Given the description of an element on the screen output the (x, y) to click on. 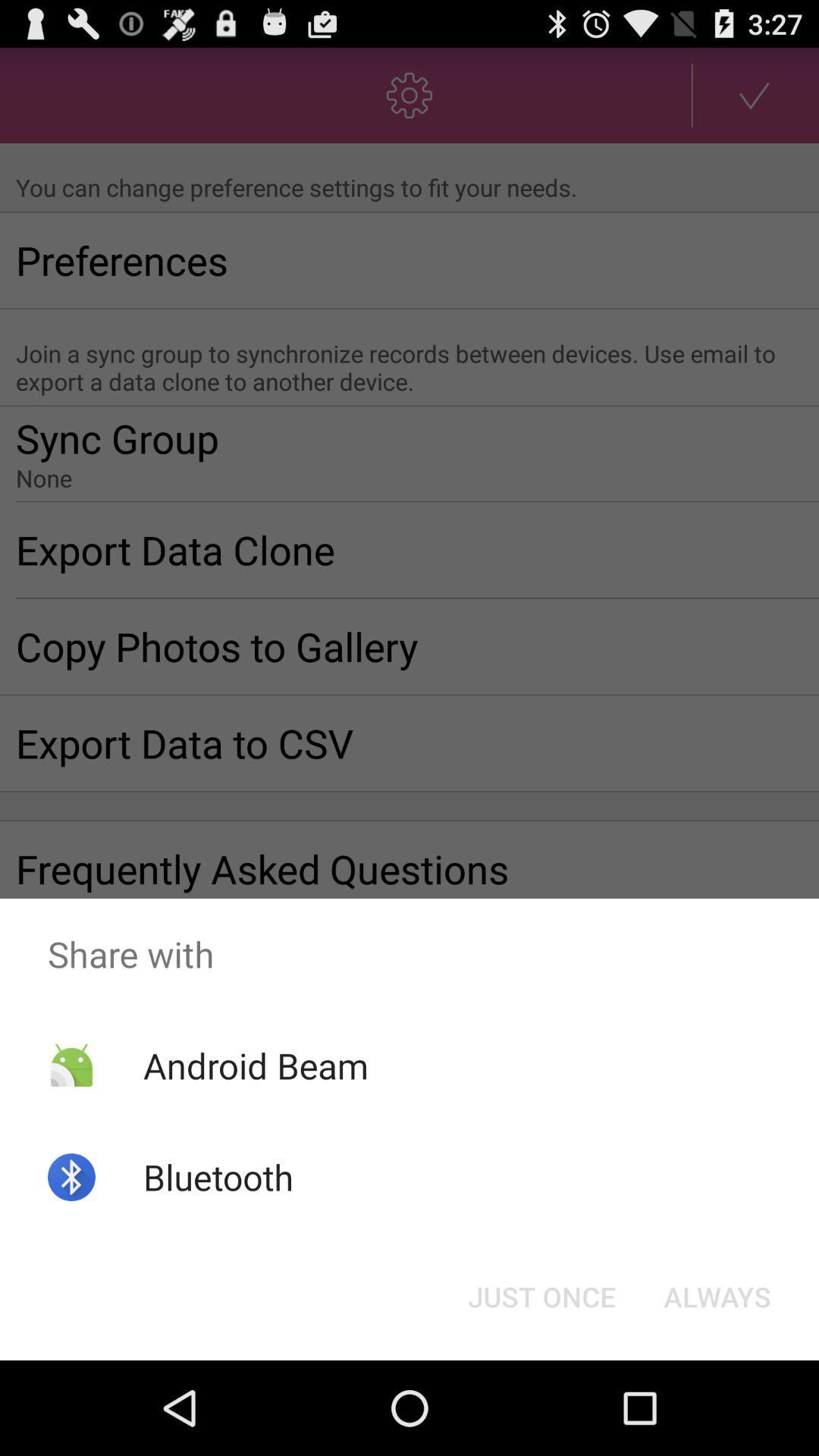
select the item next to the always icon (541, 1296)
